Given the description of an element on the screen output the (x, y) to click on. 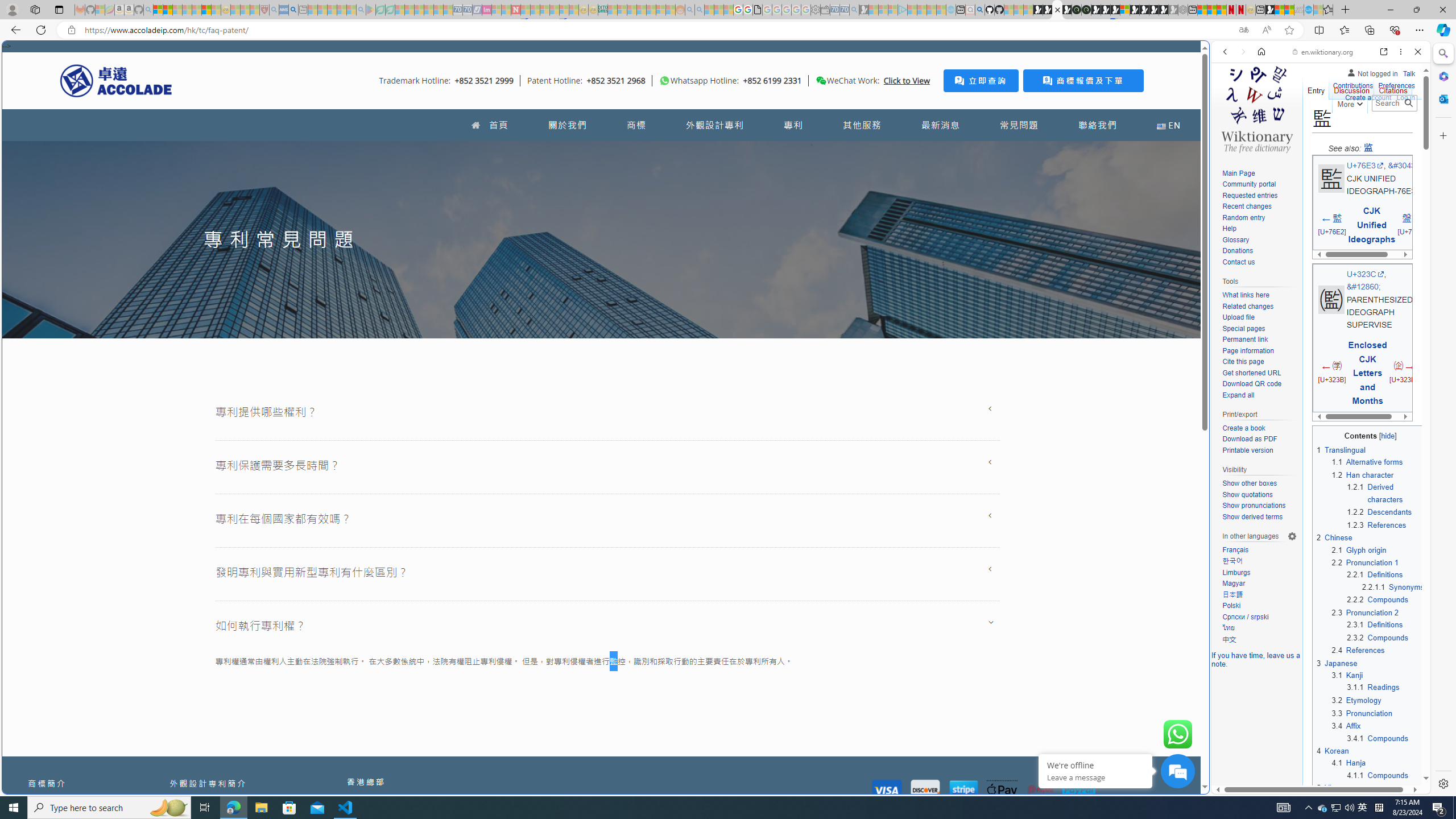
Close split screen (1208, 57)
Expand all (1238, 394)
Page information (1259, 351)
Special pages (1259, 328)
Go (1408, 102)
Contributions (1352, 85)
U+323C (1365, 273)
